Given the description of an element on the screen output the (x, y) to click on. 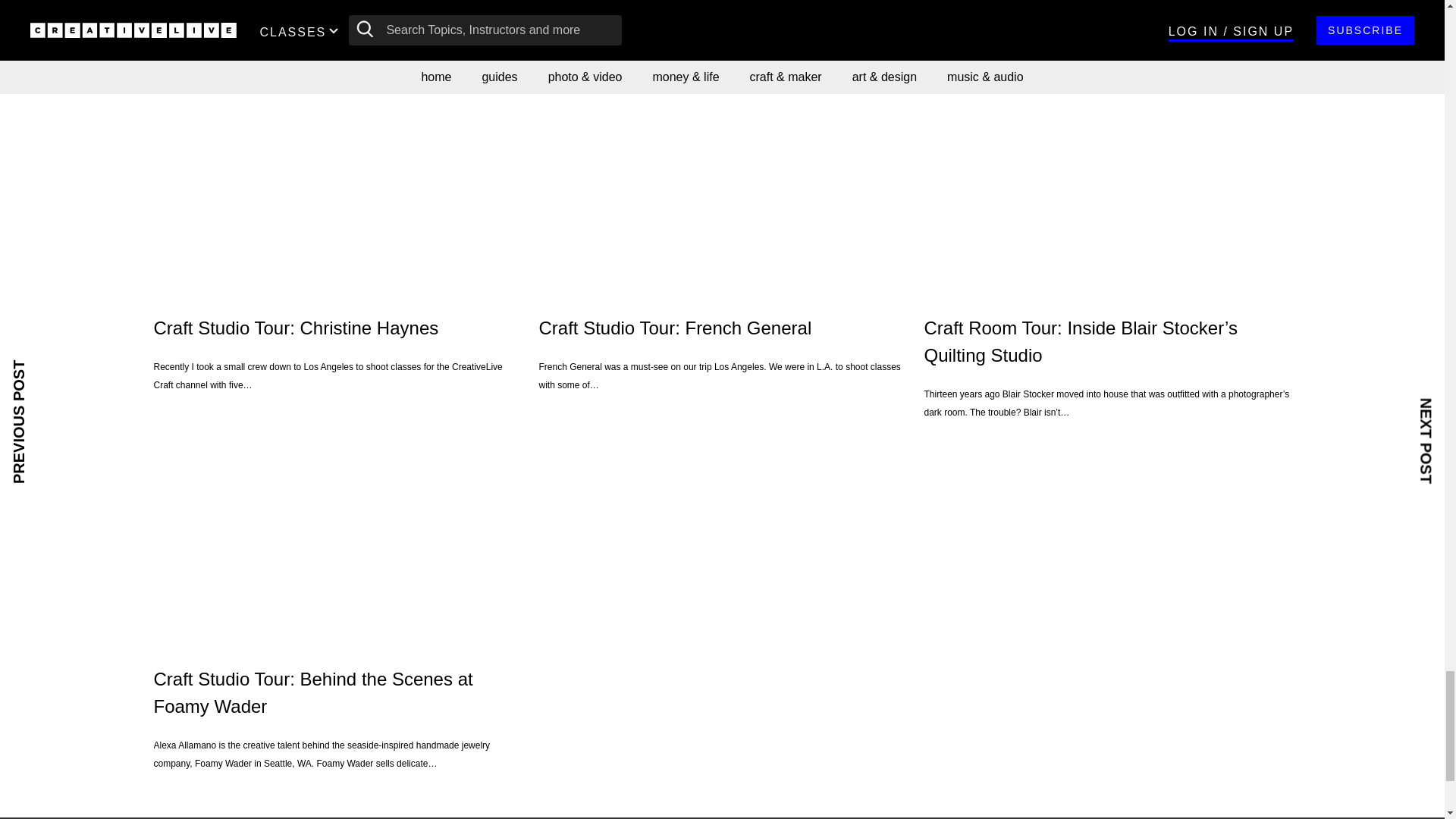
Craft Studio Tour: French General (721, 189)
Craft Studio Tour: Christine Haynes (335, 189)
Craft Studio Tour: Behind the Scenes at Foamy Wader (335, 541)
